Given the description of an element on the screen output the (x, y) to click on. 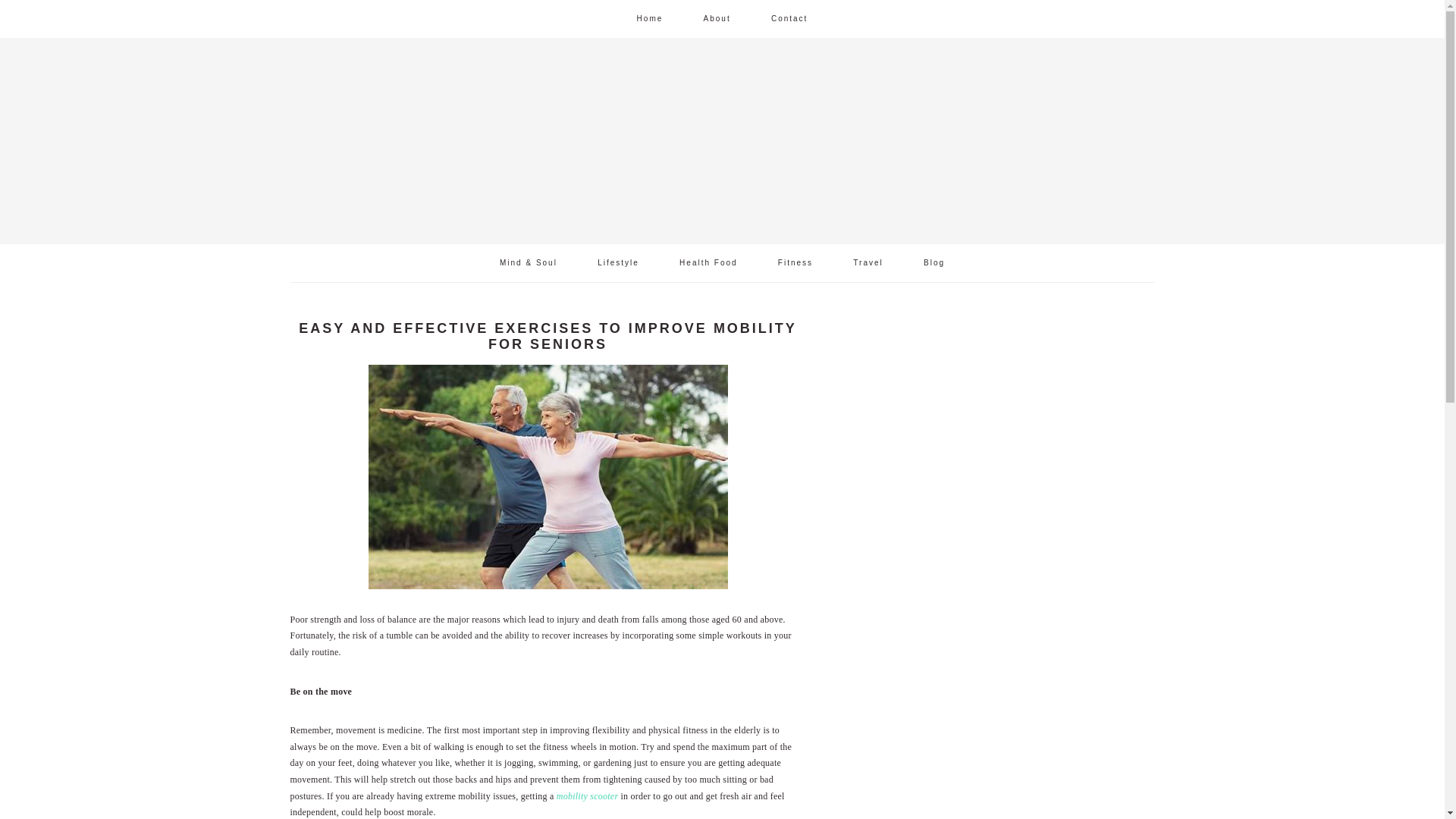
Health Food (708, 262)
Home (649, 18)
Lifestyle (618, 262)
HEALTH SOULS (415, 136)
Contact (789, 18)
Fitness (794, 262)
Blog (933, 262)
Travel (867, 262)
About (716, 18)
mobility scooter (587, 796)
